Given the description of an element on the screen output the (x, y) to click on. 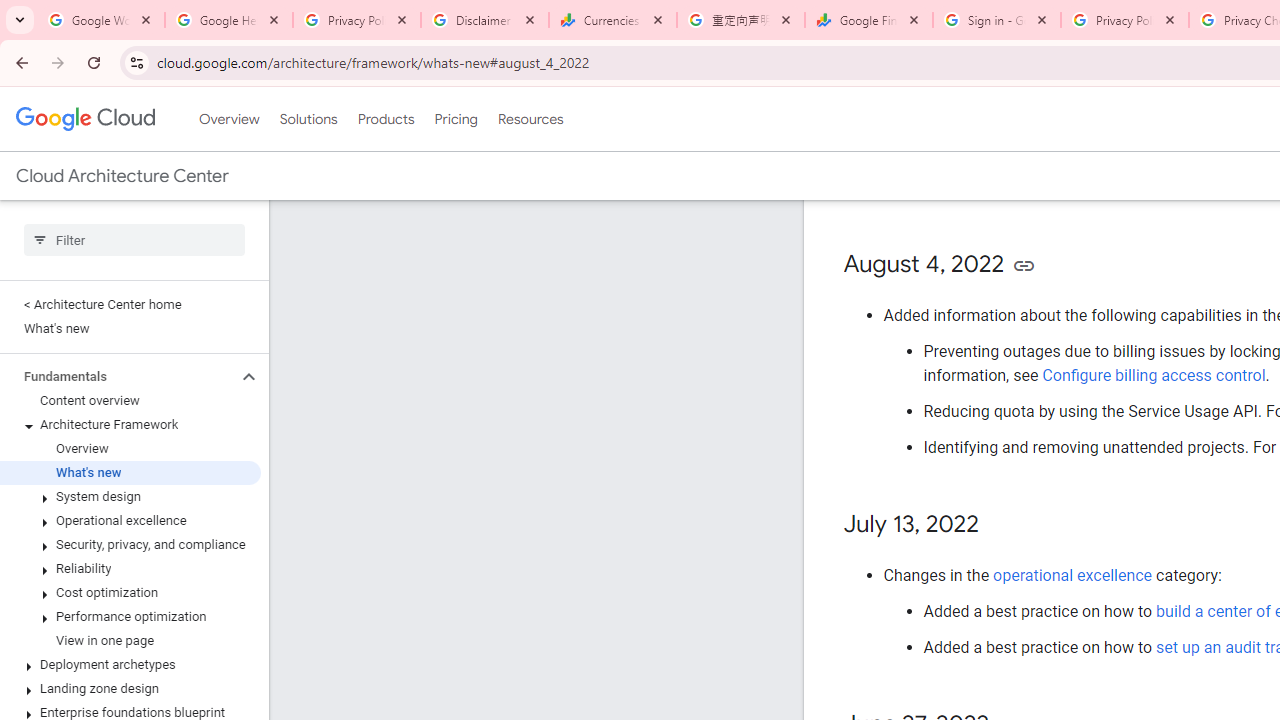
Pricing (455, 119)
Operational excellence (130, 520)
System design (1045, 115)
Type to filter (134, 239)
recommendations (1037, 187)
System design (130, 497)
Currencies - Google Finance (613, 20)
operational excellence (1073, 574)
